Given the description of an element on the screen output the (x, y) to click on. 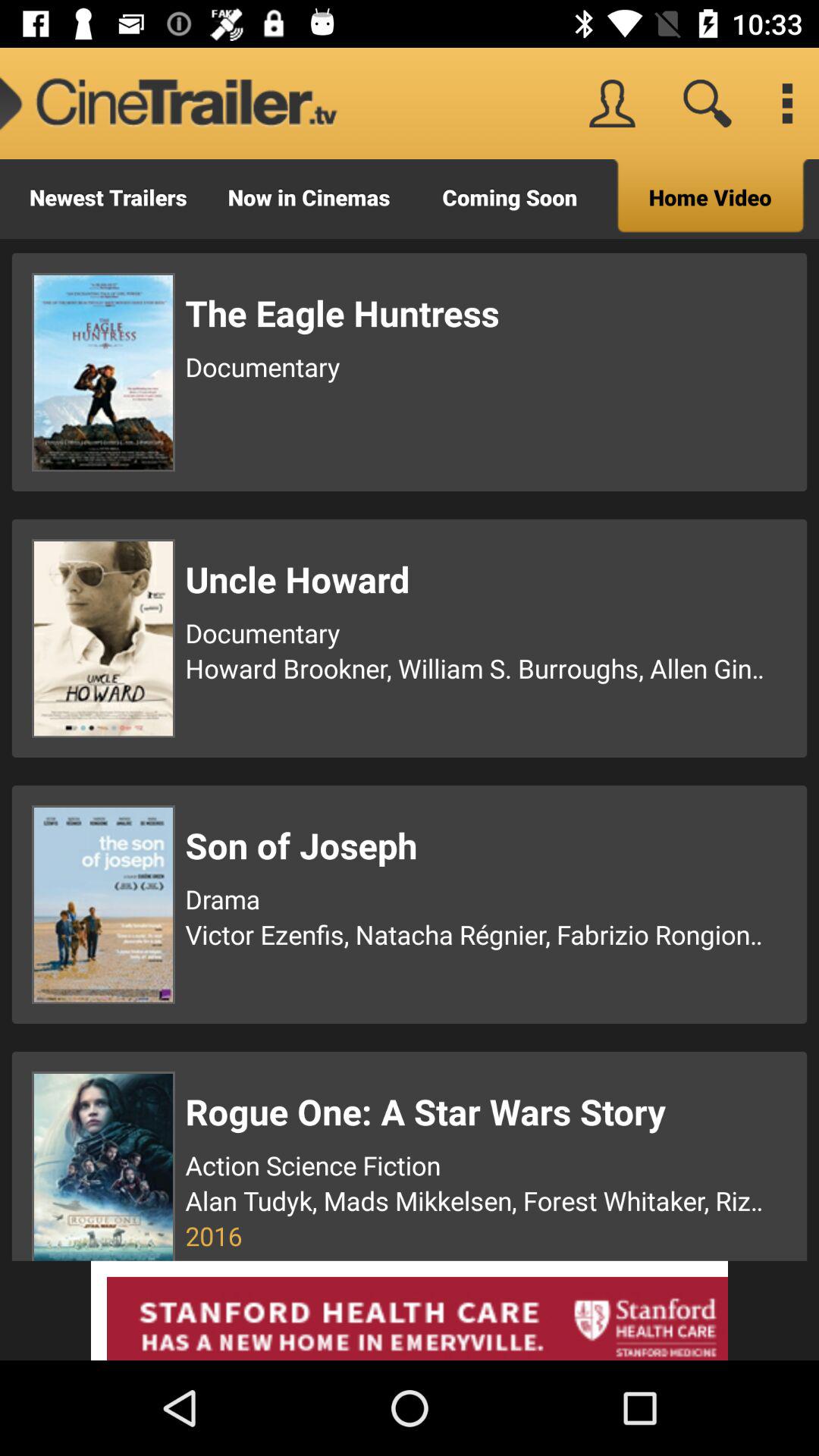
click the item above documentary item (476, 312)
